Given the description of an element on the screen output the (x, y) to click on. 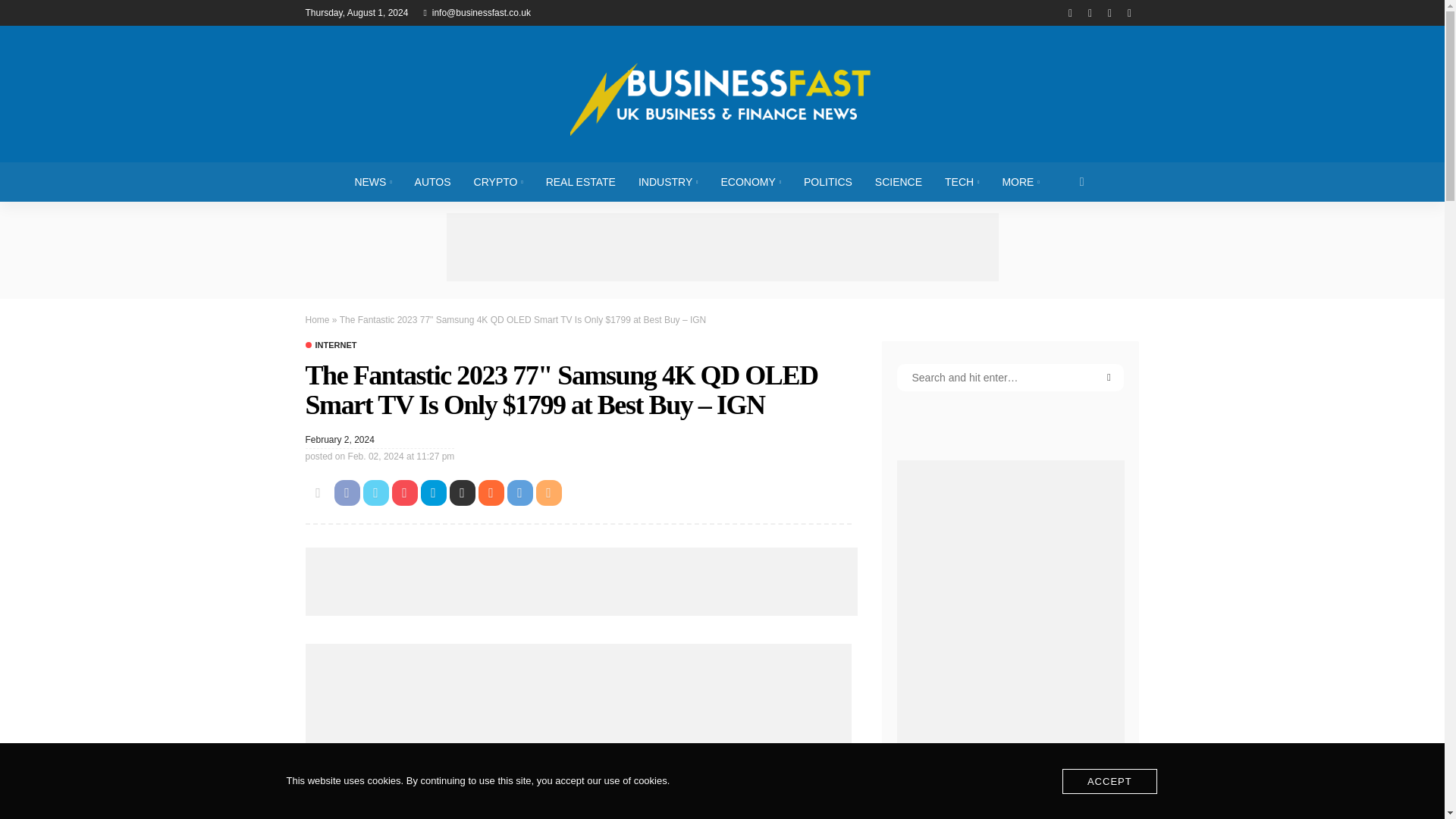
Advertisement (721, 246)
Advertisement (580, 581)
REAL ESTATE (580, 181)
ECONOMY (750, 181)
search (1082, 181)
CRYPTO (498, 181)
NEWS (372, 181)
POLITICS (827, 181)
SCIENCE (898, 181)
Business Fast (721, 93)
MORE (1019, 181)
AUTOS (433, 181)
INDUSTRY (668, 181)
TECH (961, 181)
Internet (330, 345)
